Given the description of an element on the screen output the (x, y) to click on. 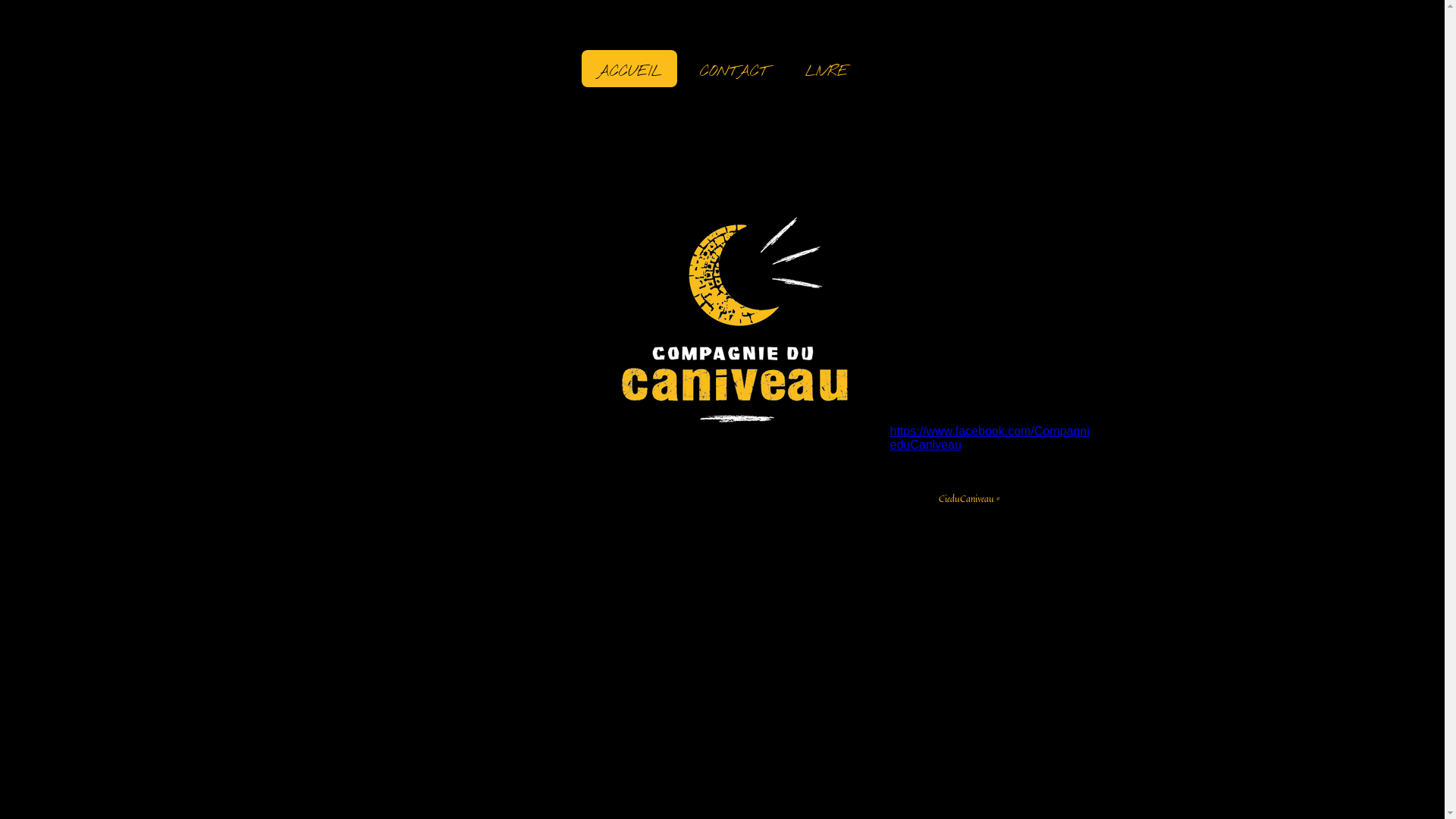
https://www.facebook.com/CompagnieduCaniveau Element type: text (989, 437)
LIVRE Element type: text (826, 68)
CONTACT Element type: text (732, 68)
ACCUEIL Element type: text (628, 68)
